Given the description of an element on the screen output the (x, y) to click on. 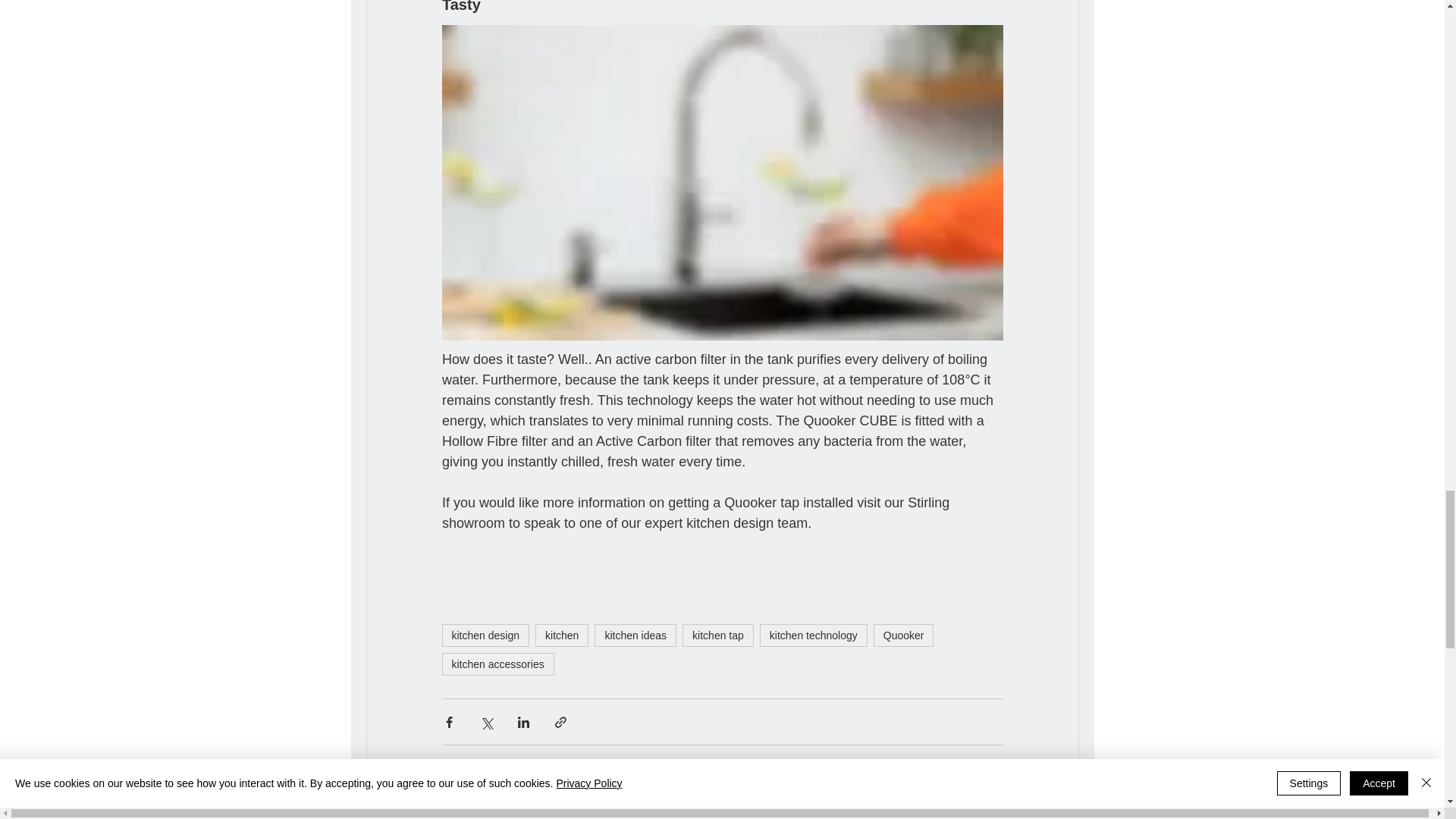
Quooker (903, 635)
kitchen ideas (635, 635)
kitchen tap (718, 635)
Post not marked as liked (995, 766)
kitchen accessories (497, 663)
kitchen (561, 635)
kitchen technology (813, 635)
kitchen design (485, 635)
